Given the description of an element on the screen output the (x, y) to click on. 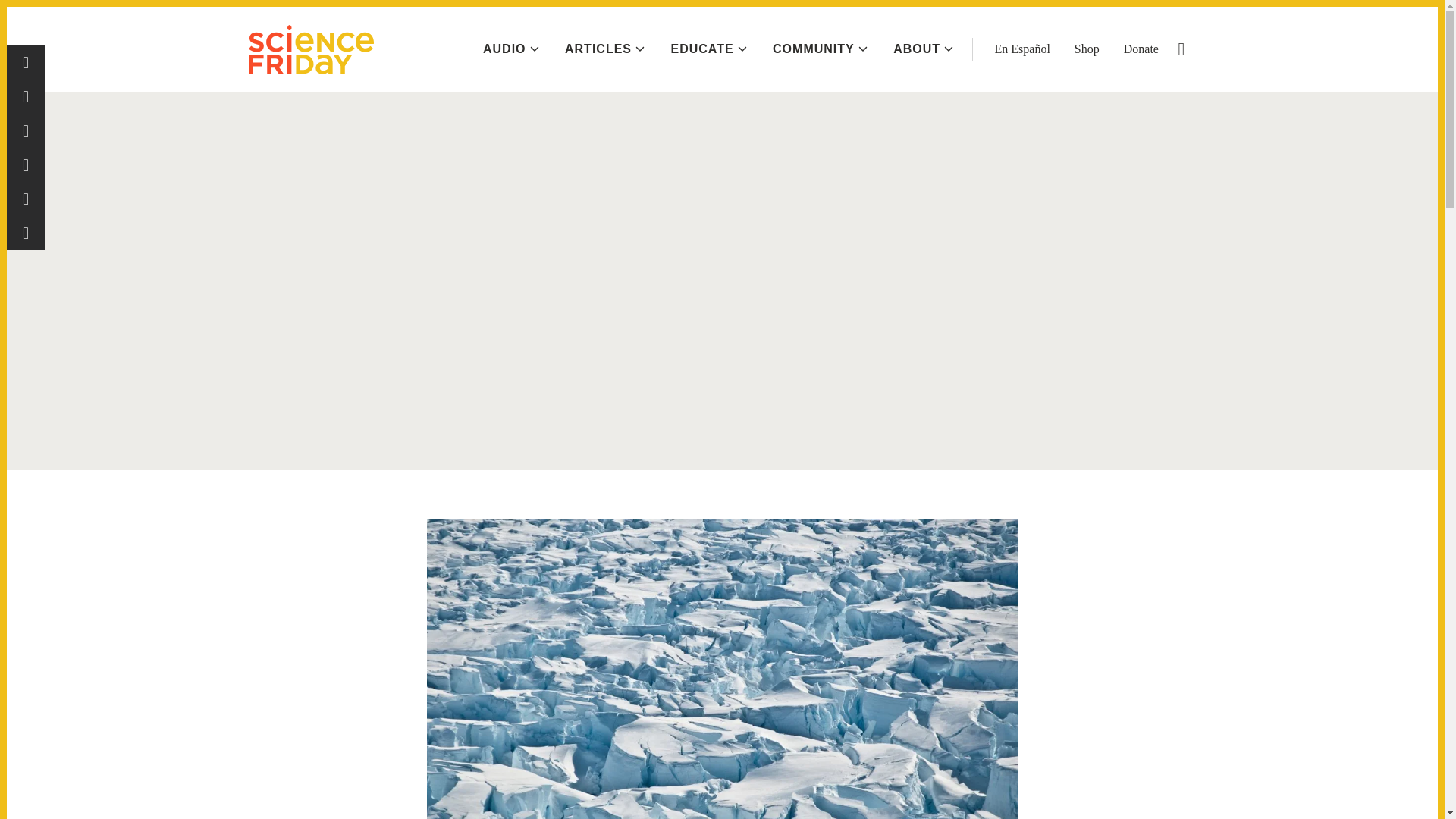
Science Friday (311, 49)
AUDIO (510, 48)
Threads (26, 96)
Shop (1086, 48)
Search (1181, 48)
Twitter (26, 130)
Email (26, 233)
Facebook (26, 62)
Bluesky (26, 164)
Facebook (26, 62)
